Given the description of an element on the screen output the (x, y) to click on. 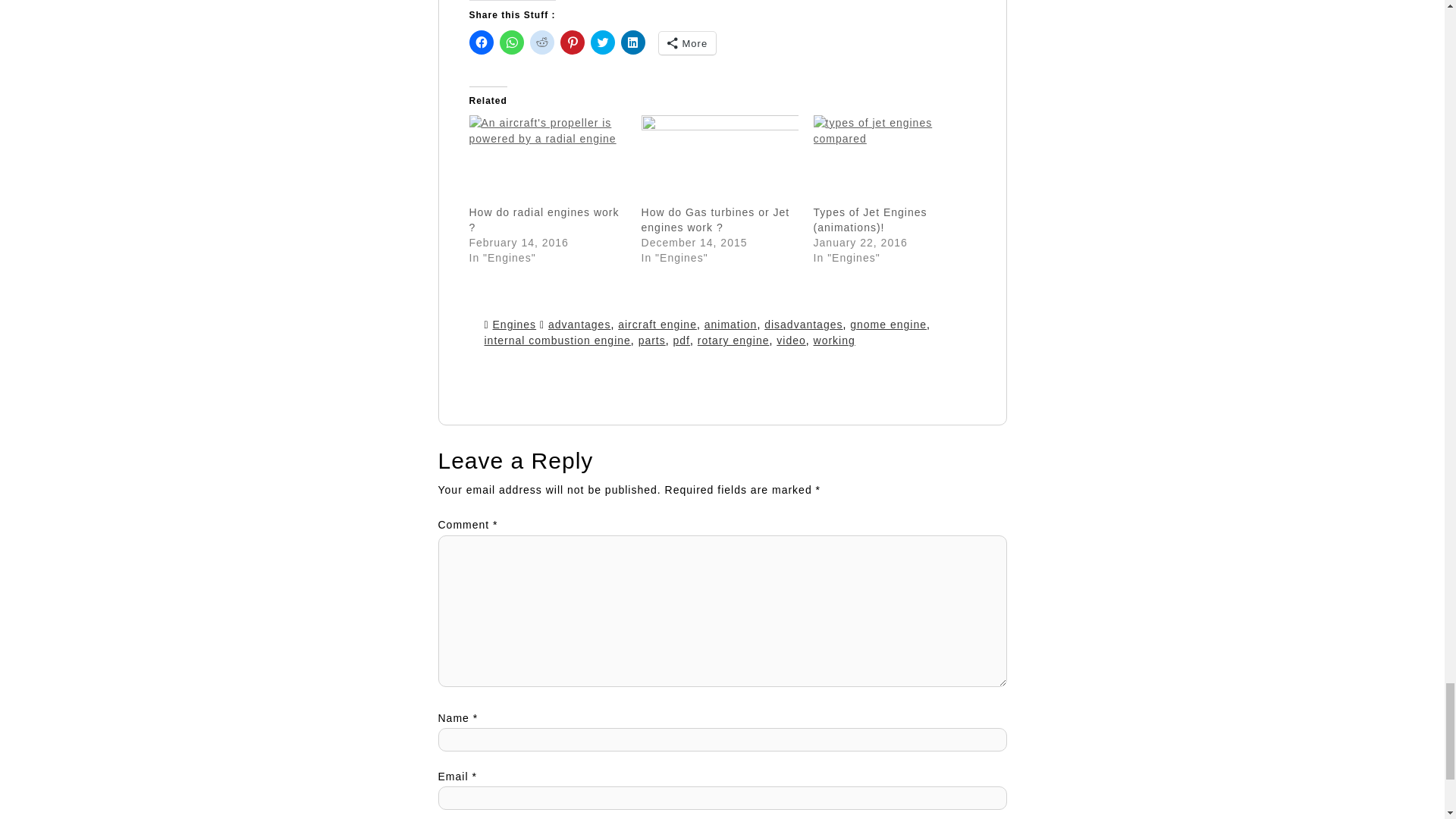
More (687, 42)
